Given the description of an element on the screen output the (x, y) to click on. 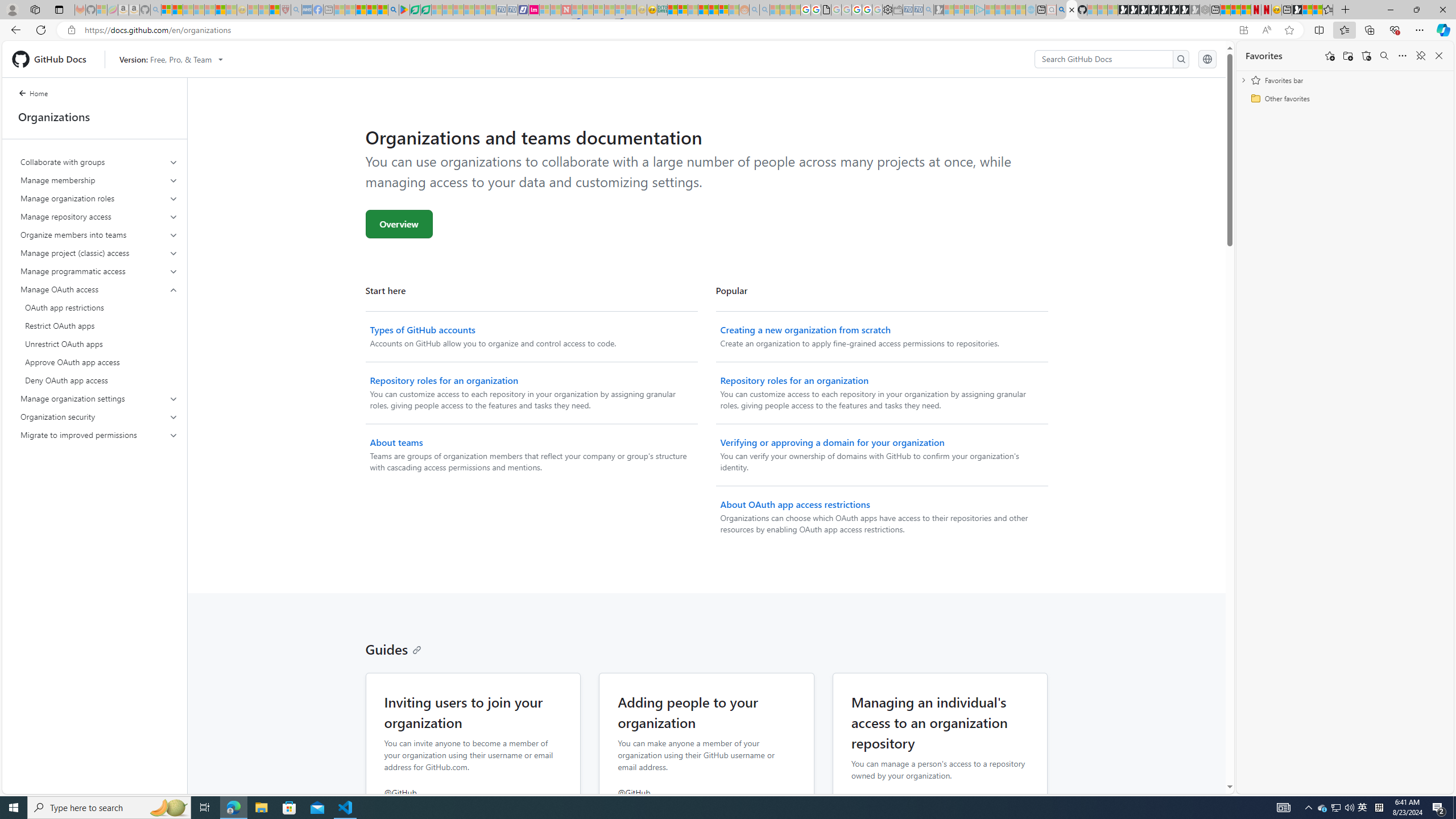
Unpin favorites (1420, 55)
Cheap Hotels - Save70.com - Sleeping (512, 9)
Unrestrict OAuth apps (99, 343)
Play Cave FRVR in your browser | Games from Microsoft Start (1143, 9)
